Given the description of an element on the screen output the (x, y) to click on. 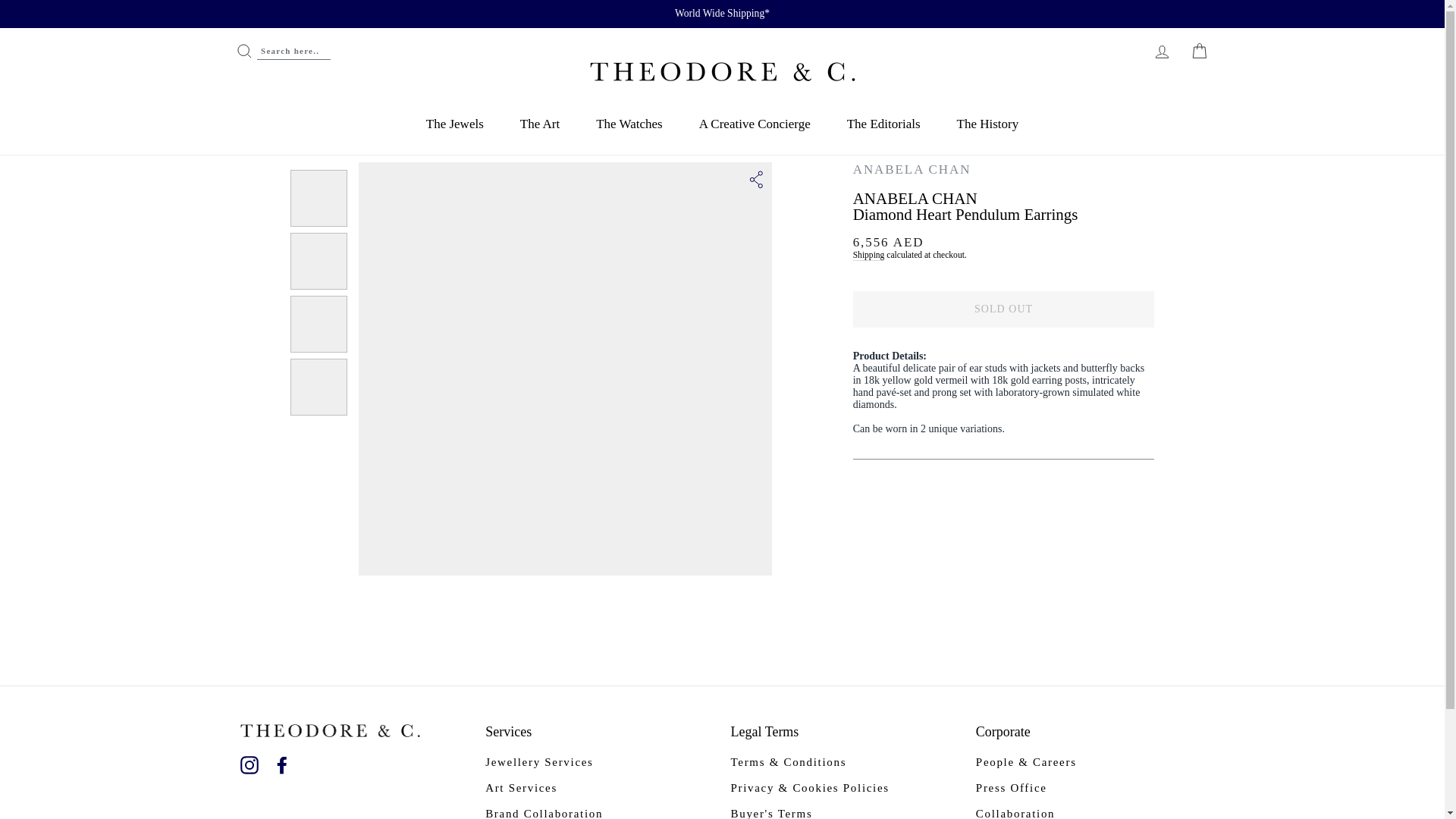
Search here.. (282, 51)
The Jewels (454, 127)
